Given the description of an element on the screen output the (x, y) to click on. 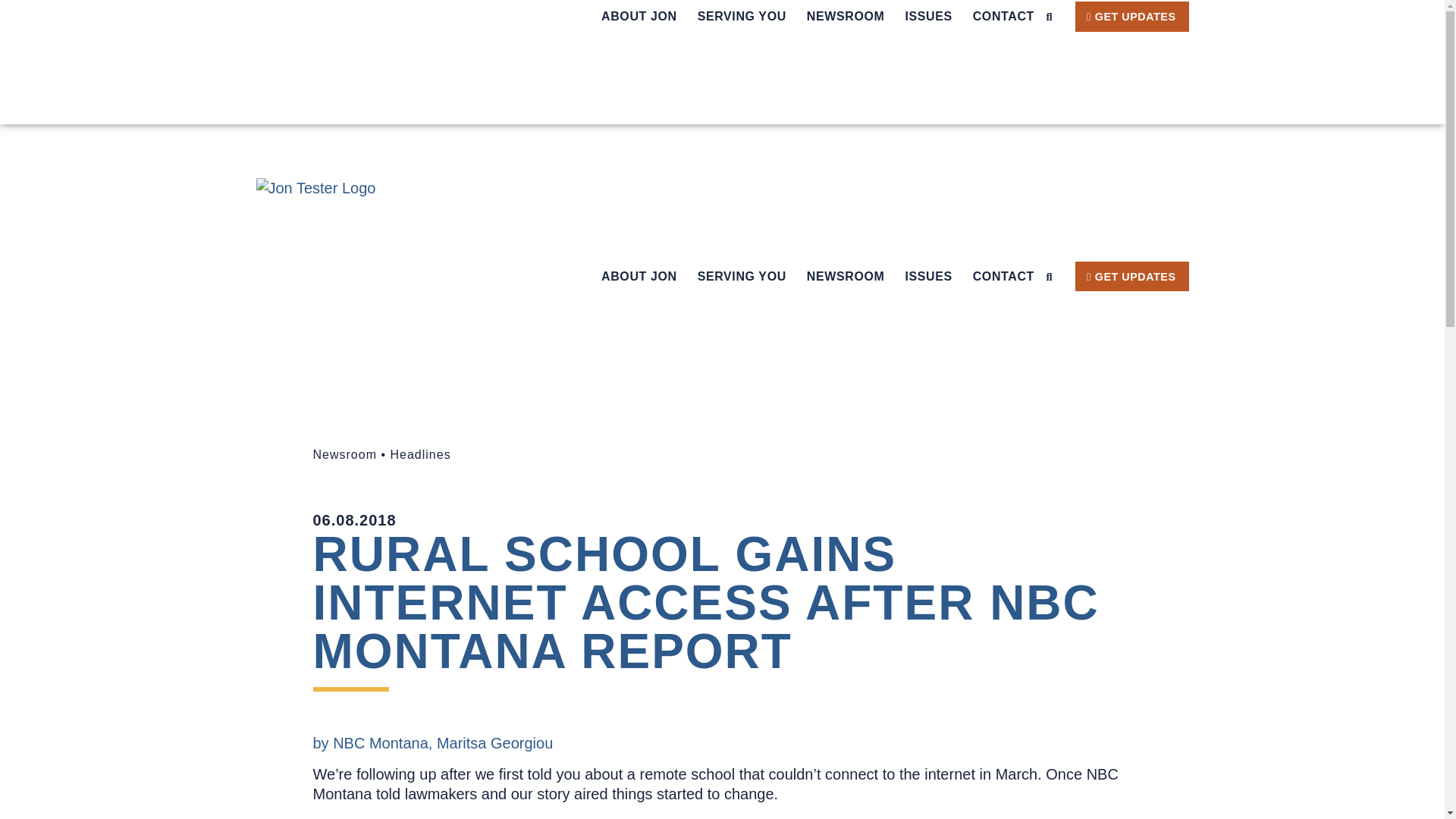
NEWSROOM (845, 16)
ISSUES (928, 16)
CONTACT (1002, 16)
SERVING YOU (741, 16)
ABOUT JON (639, 16)
